Given the description of an element on the screen output the (x, y) to click on. 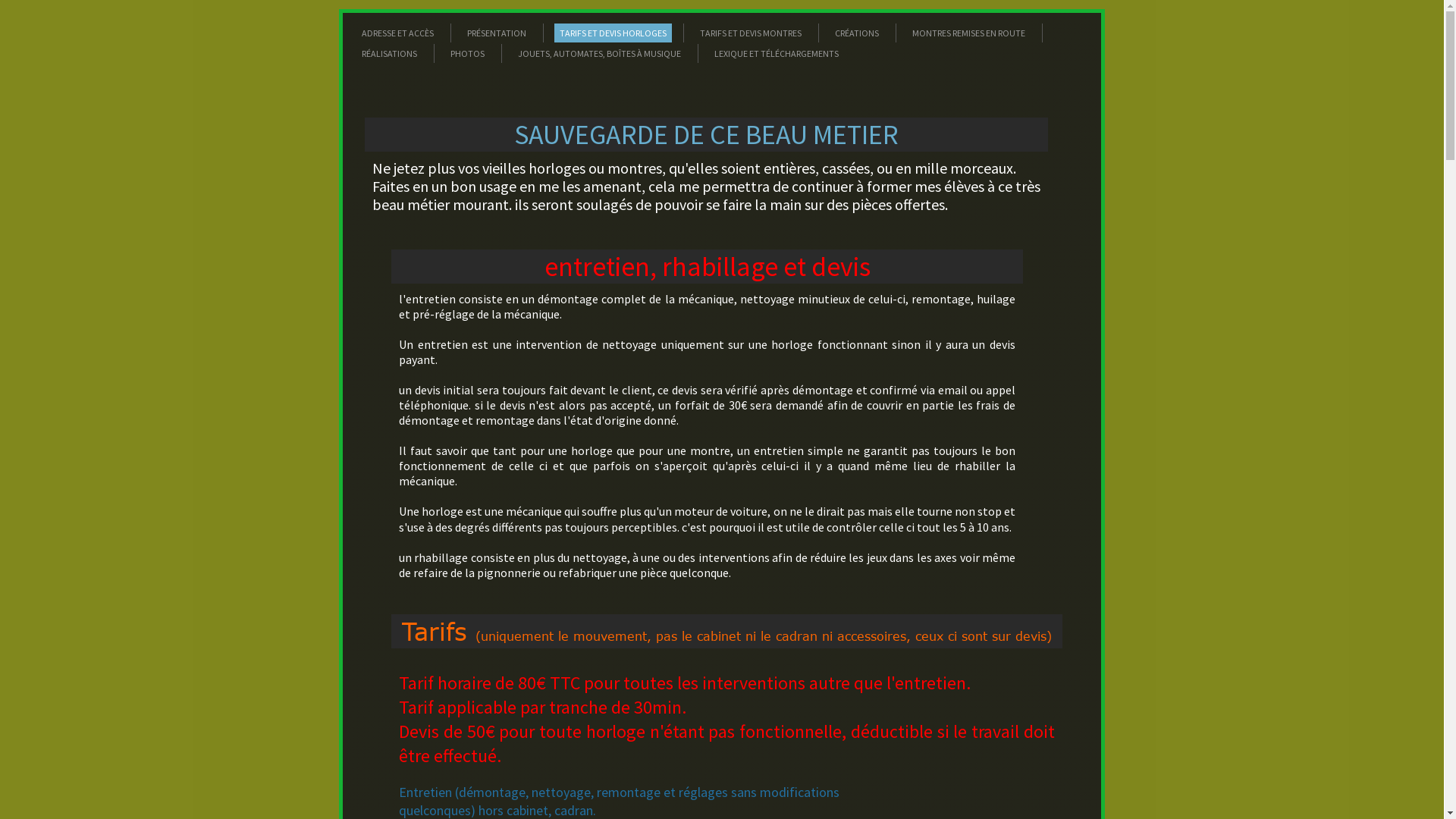
MONTRES REMISES EN ROUTE Element type: text (968, 32)
PHOTOS Element type: text (467, 52)
TARIFS ET DEVIS MONTRES Element type: text (750, 32)
TARIFS ET DEVIS HORLOGES Element type: text (612, 32)
